Given the description of an element on the screen output the (x, y) to click on. 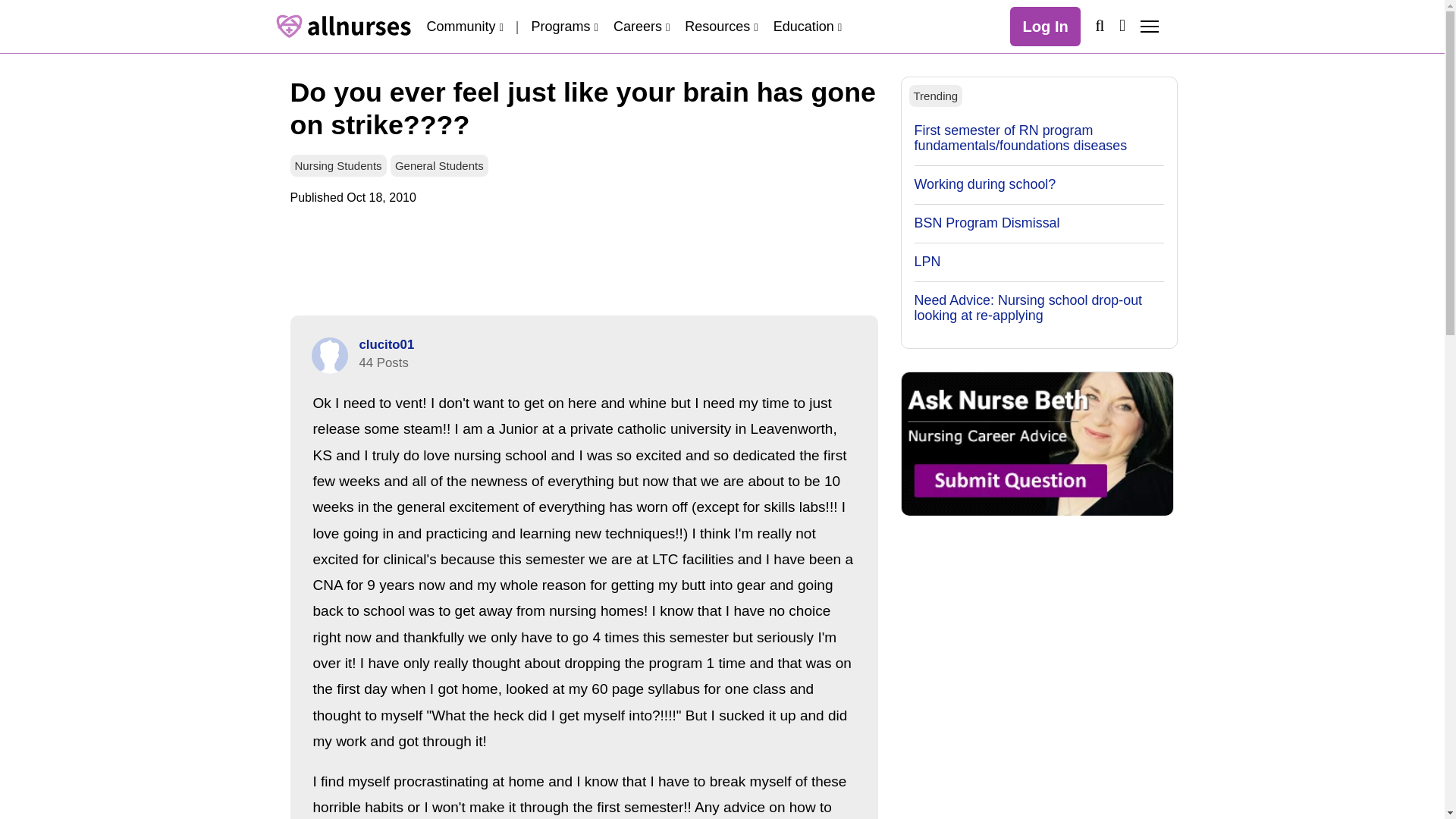
Go to clucito01's profile (329, 355)
Go to clucito01's profile (386, 344)
Up-to-date information on nursing programs in the U.S. (564, 26)
Community (465, 26)
View the topic Working during school? (985, 183)
Programs (564, 26)
View the topic BSN Program Dismissal (986, 222)
